Given the description of an element on the screen output the (x, y) to click on. 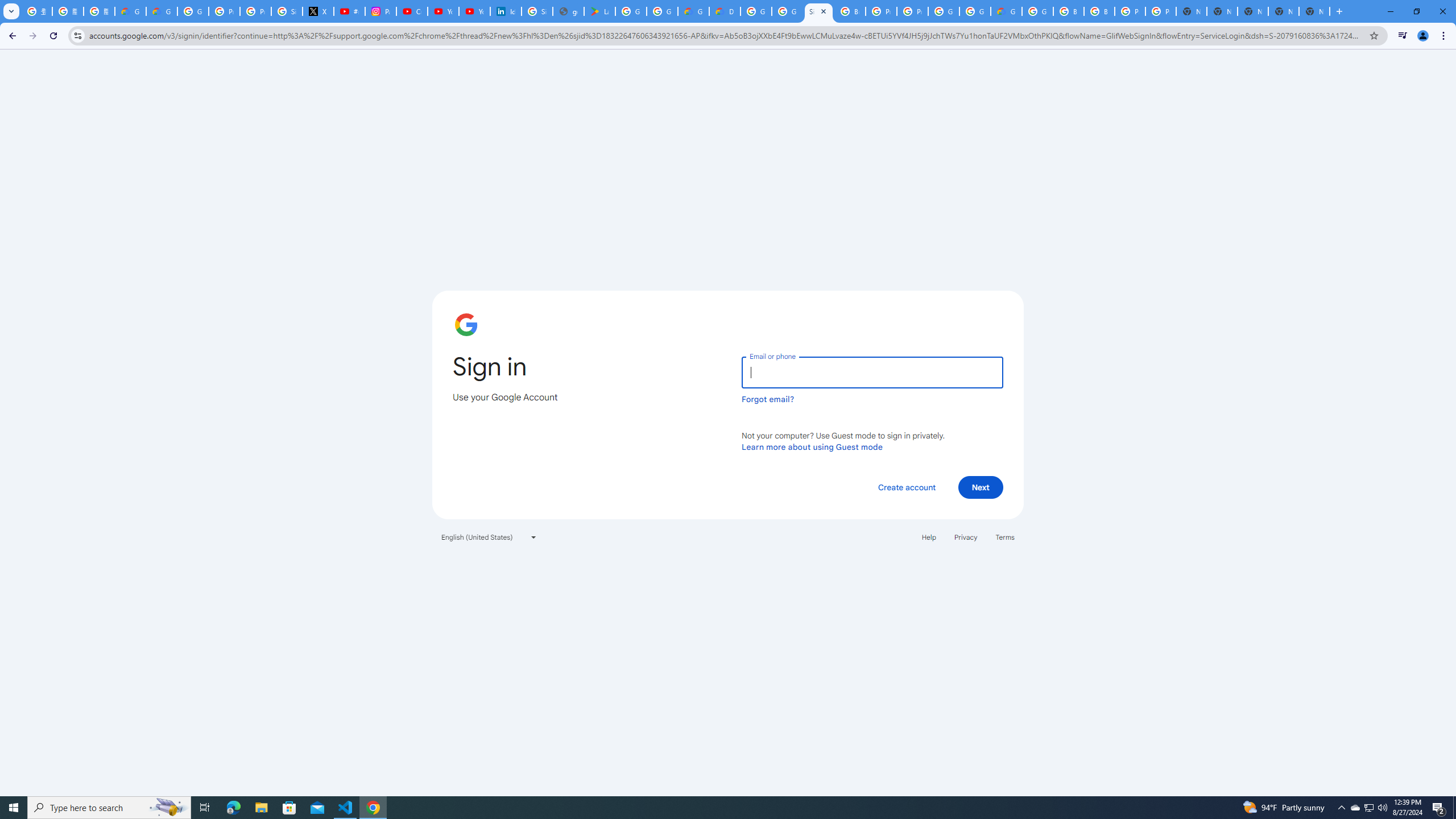
Google Workspace - Specific Terms (662, 11)
Sign in - Google Accounts (286, 11)
Sign in - Google Accounts (818, 11)
Google Cloud Estimate Summary (1005, 11)
Google Cloud Privacy Notice (161, 11)
